Given the description of an element on the screen output the (x, y) to click on. 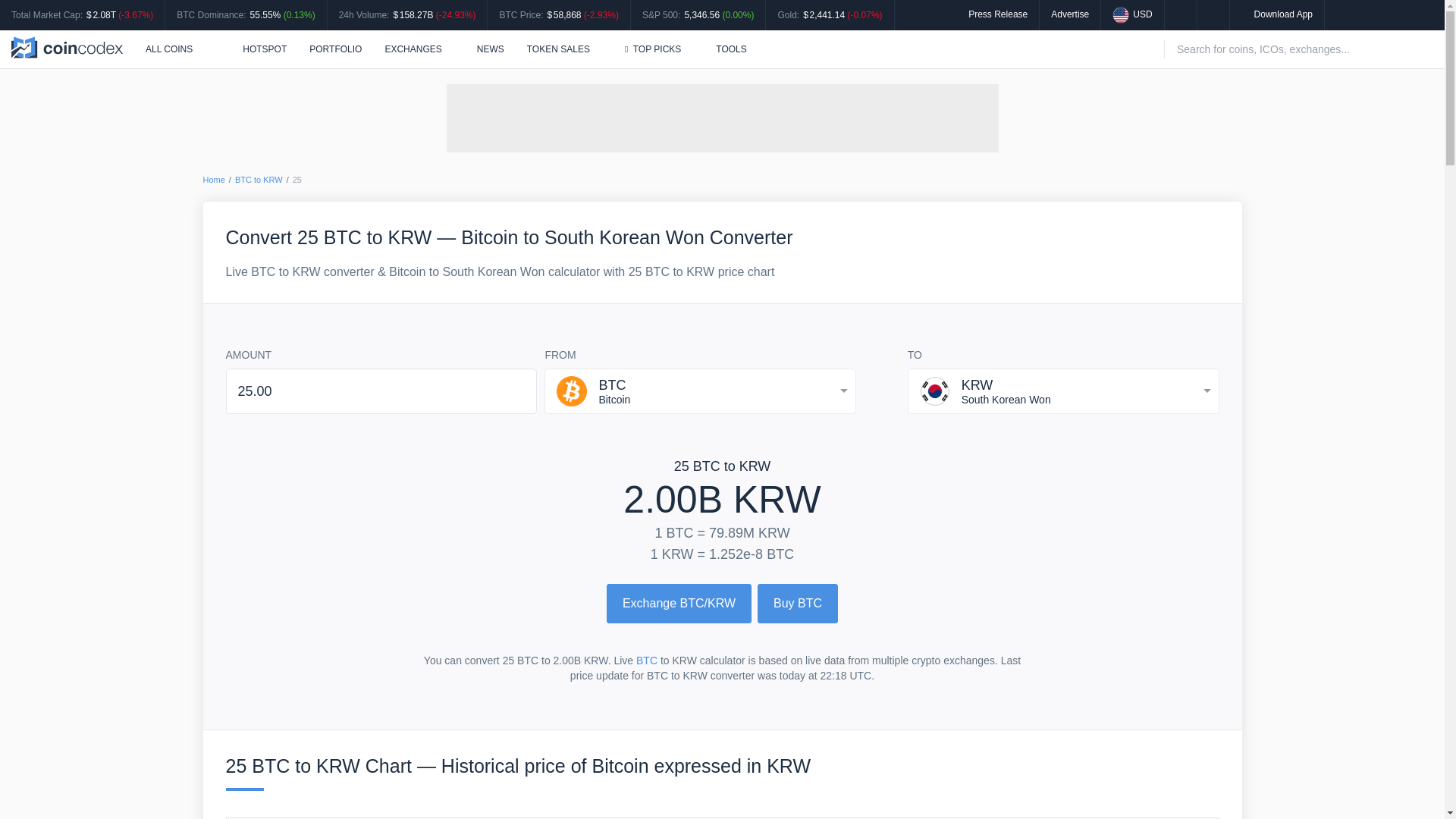
PORTFOLIO (335, 48)
Press Release (997, 14)
BTC to KRW (258, 179)
NEWS (490, 48)
Buy BTC (797, 603)
25.00 (381, 391)
BTC (647, 660)
Advertise (1070, 14)
Home (214, 179)
HOTSPOT (256, 48)
